Given the description of an element on the screen output the (x, y) to click on. 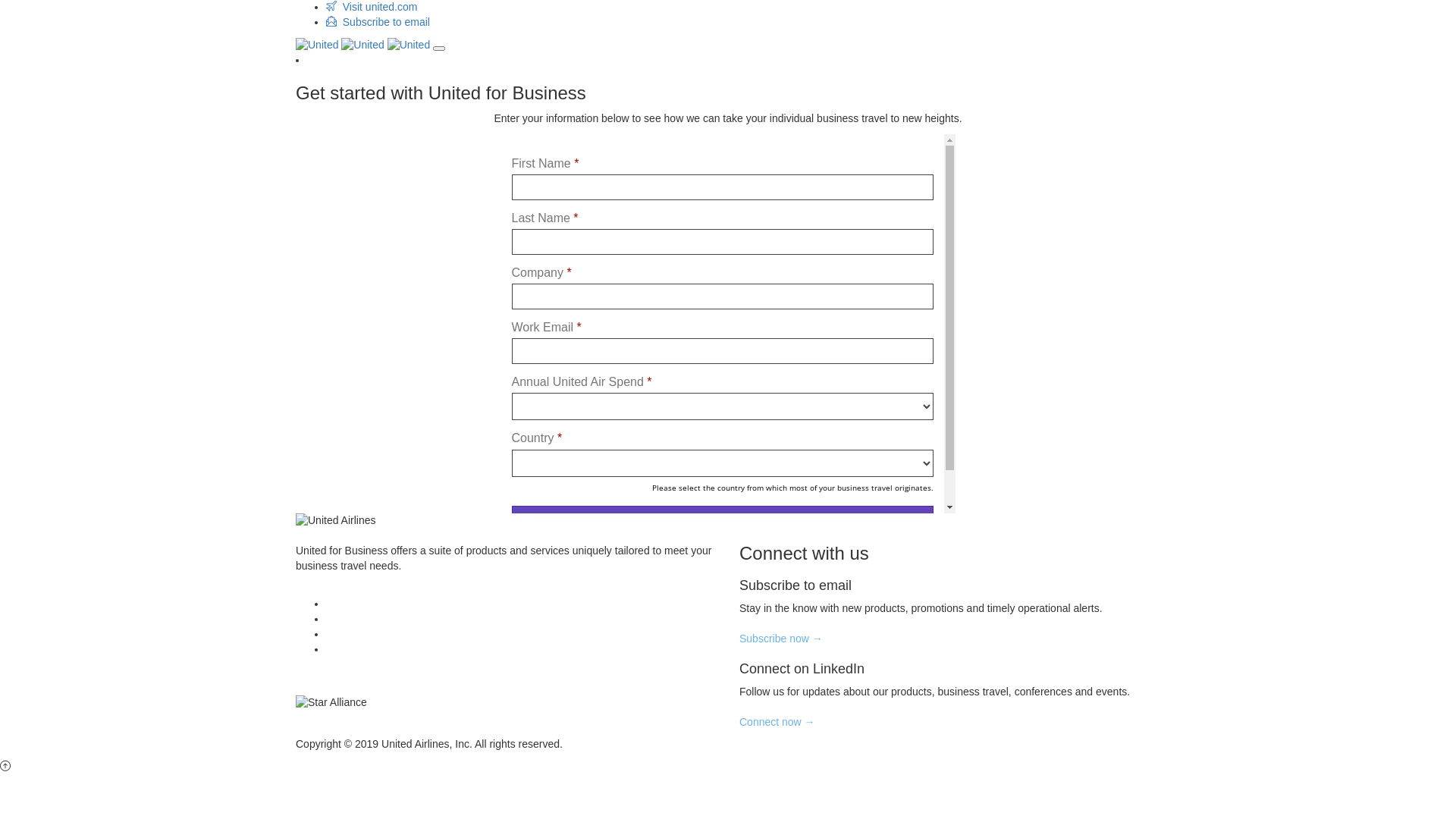
  Subscribe to email Element type: text (377, 21)
united.com Element type: text (351, 633)
United Jetstream Element type: text (366, 649)
About United Element type: text (356, 603)
  Visit united.com Element type: text (371, 6)
Terms & Conditions Element type: text (371, 618)
